Given the description of an element on the screen output the (x, y) to click on. 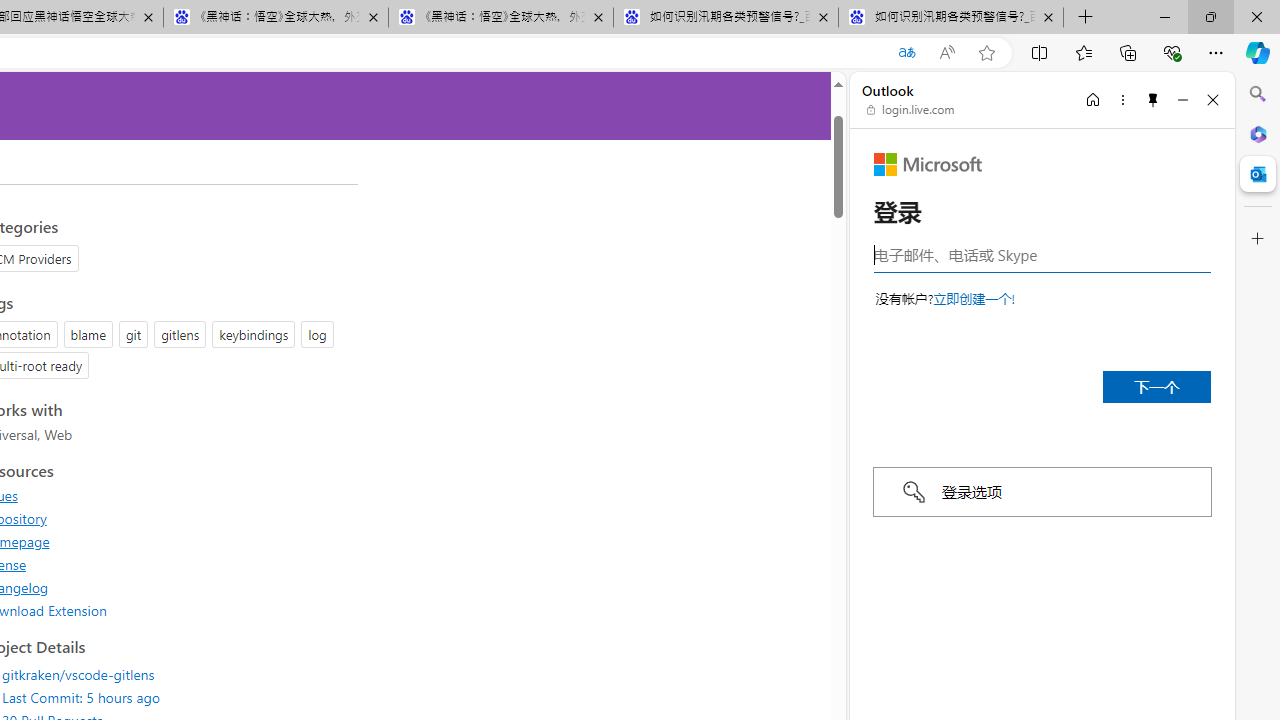
Translated (906, 53)
Microsoft (927, 164)
